Given the description of an element on the screen output the (x, y) to click on. 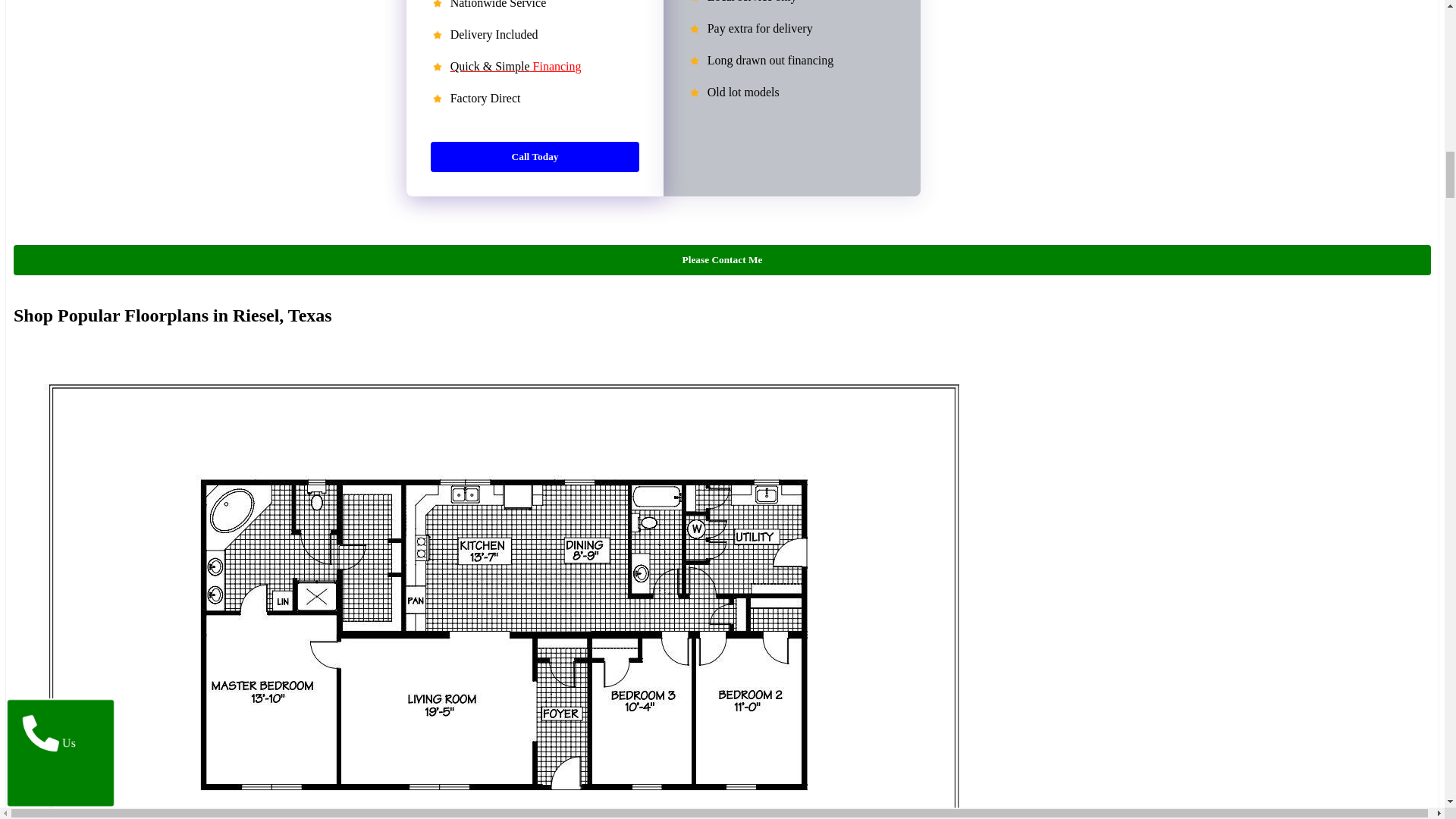
Call Today (534, 156)
Factory Direct (534, 126)
Please Contact Me (722, 259)
Call Today (534, 155)
